Given the description of an element on the screen output the (x, y) to click on. 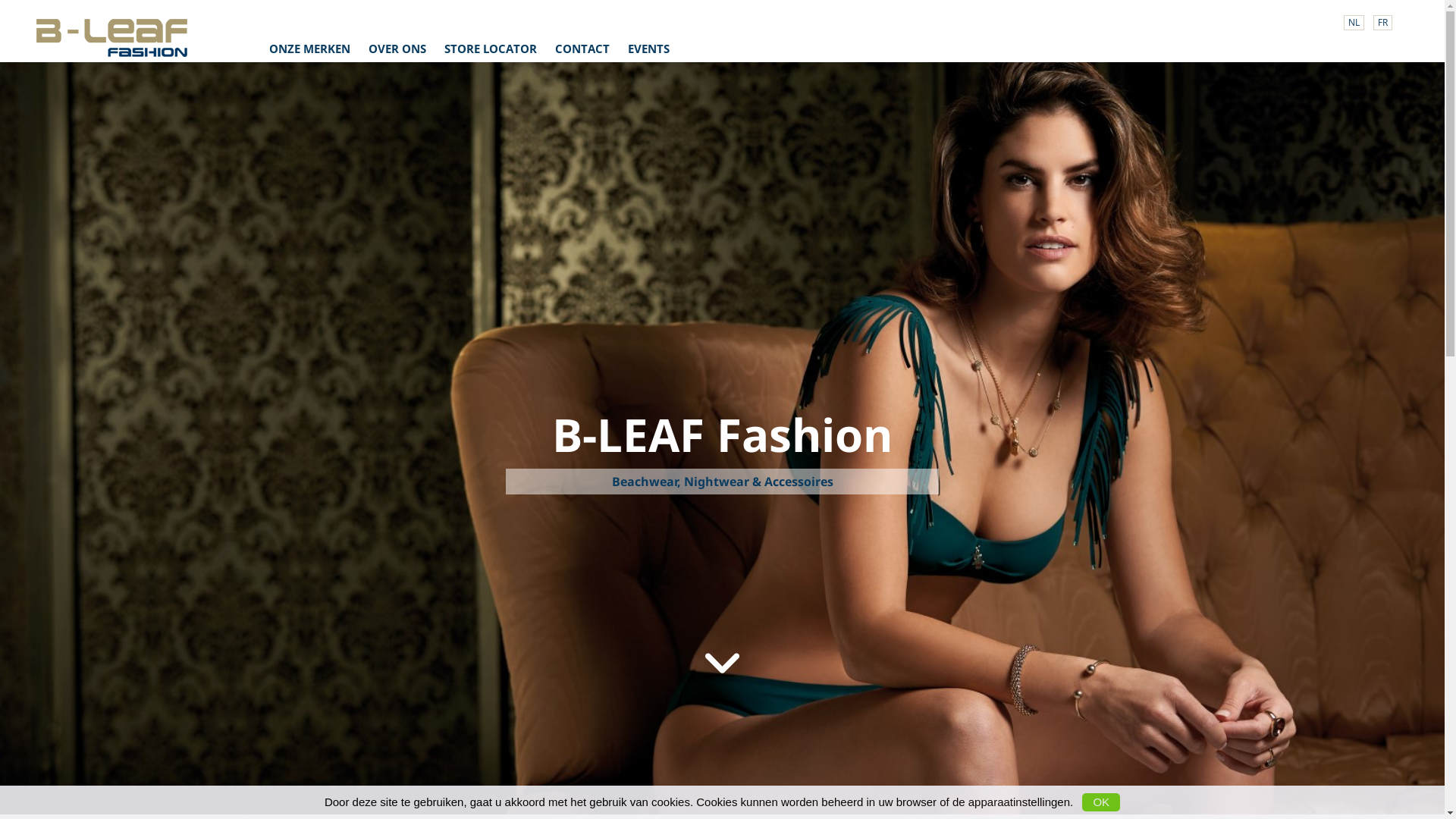
CONTACT Element type: text (582, 48)
OK Element type: text (1101, 802)
STORE LOCATOR Element type: text (490, 48)
FR Element type: text (1382, 22)
EVENTS Element type: text (648, 48)
NL Element type: text (1353, 22)
OVER ONS Element type: text (397, 48)
ONZE MERKEN Element type: text (309, 48)
